Given the description of an element on the screen output the (x, y) to click on. 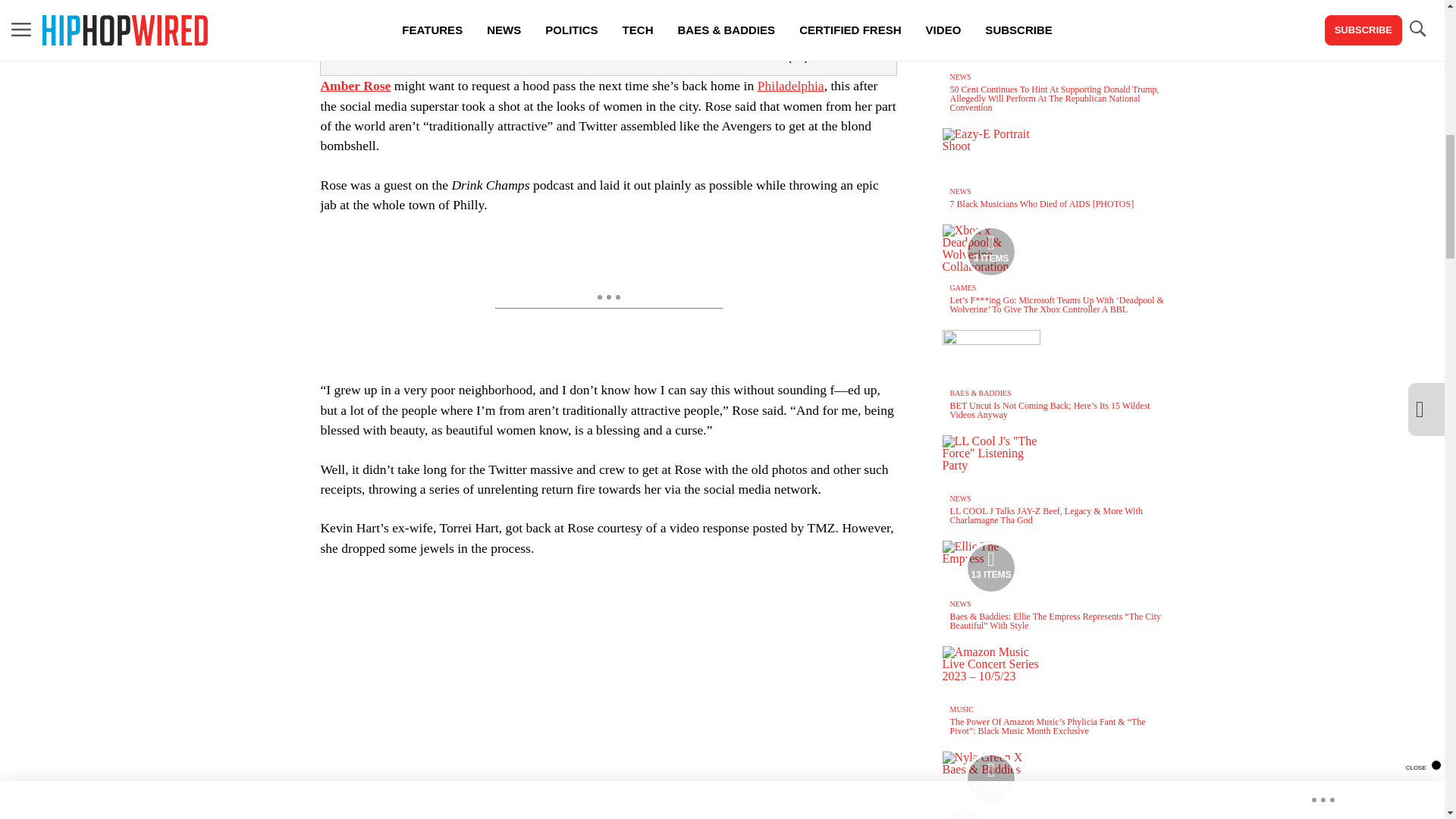
Amber Rose (355, 85)
Media Playlist (990, 778)
Philadelphia (790, 85)
Embedded video (607, 698)
Media Playlist (990, 251)
Media Playlist (990, 567)
